Given the description of an element on the screen output the (x, y) to click on. 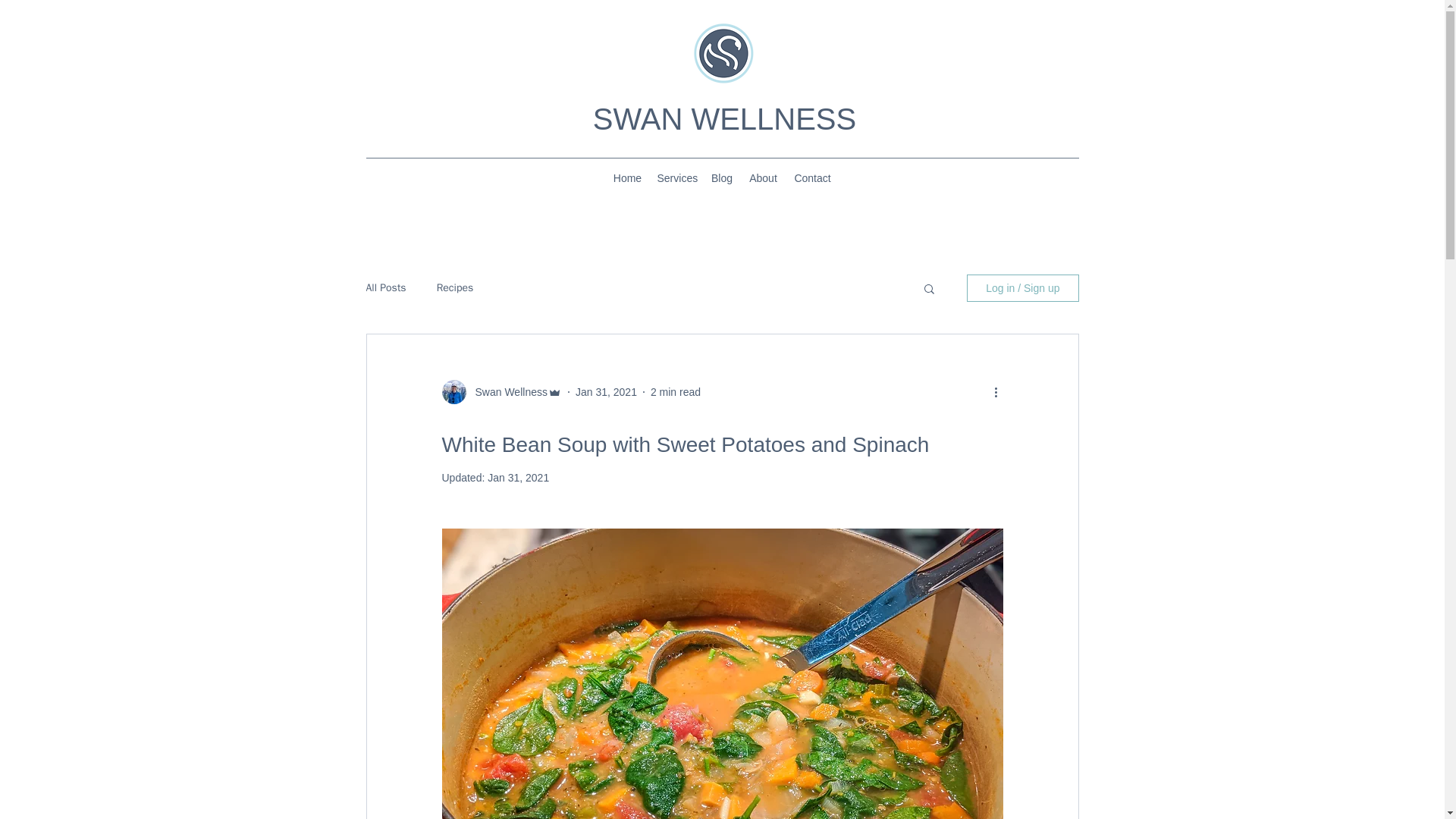
Swan Wellness Homepage (722, 52)
Recipes (455, 287)
Home (627, 178)
About (762, 178)
Blog (722, 178)
Services (676, 178)
2 min read (675, 390)
Jan 31, 2021 (517, 477)
Swan Wellness (506, 391)
Jan 31, 2021 (606, 390)
